Given the description of an element on the screen output the (x, y) to click on. 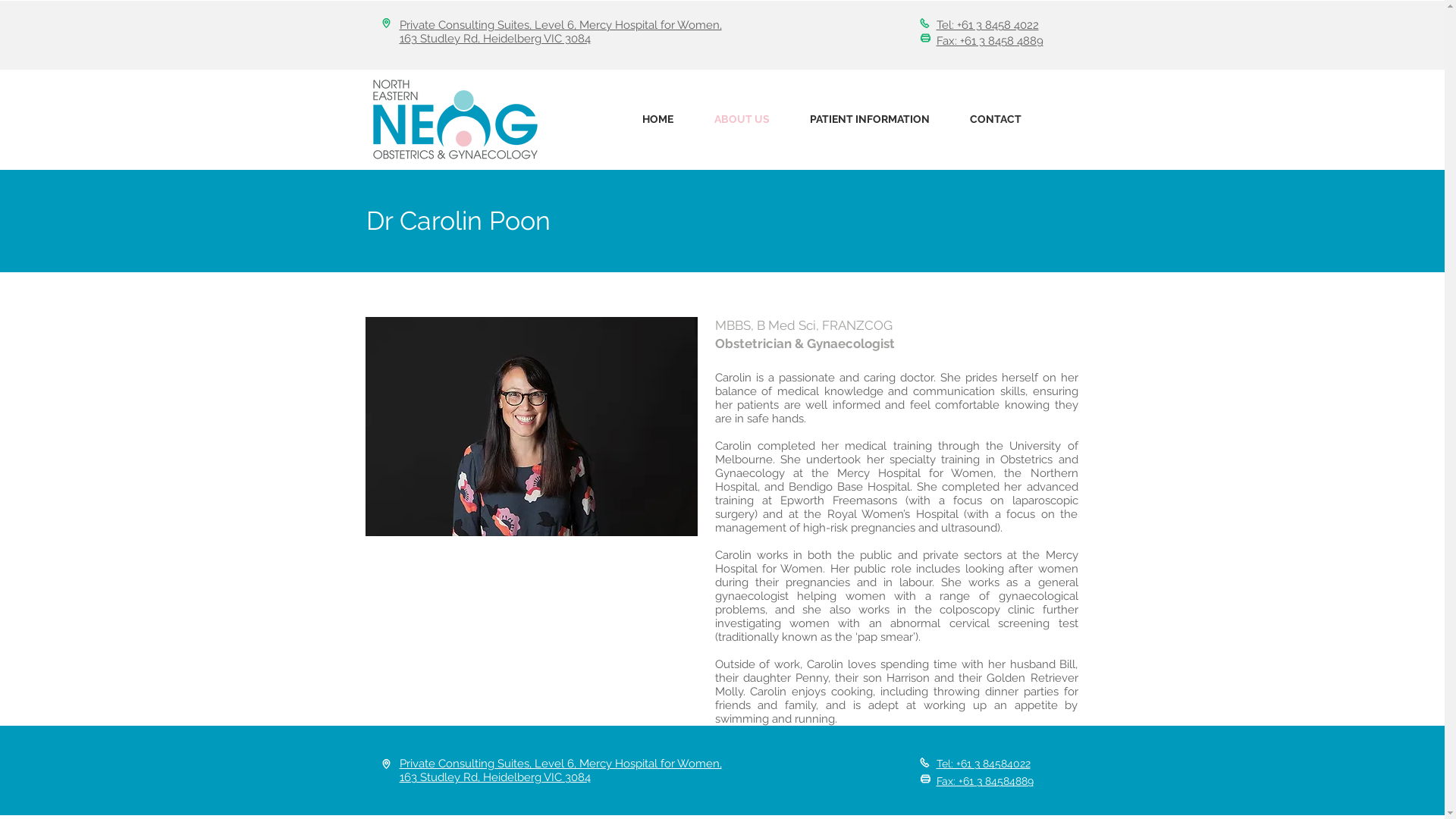
PATIENT INFORMATION Element type: text (870, 119)
Tel: +61 3 8458 4022 Element type: text (986, 24)
CONTACT Element type: text (995, 119)
Fax: +61 3 84584889 Element type: text (983, 781)
ABOUT US Element type: text (741, 119)
HOME Element type: text (657, 119)
Tel: +61 3 84584022 Element type: text (982, 763)
Fax: +61 3 8458 4889 Element type: text (988, 40)
